Given the description of an element on the screen output the (x, y) to click on. 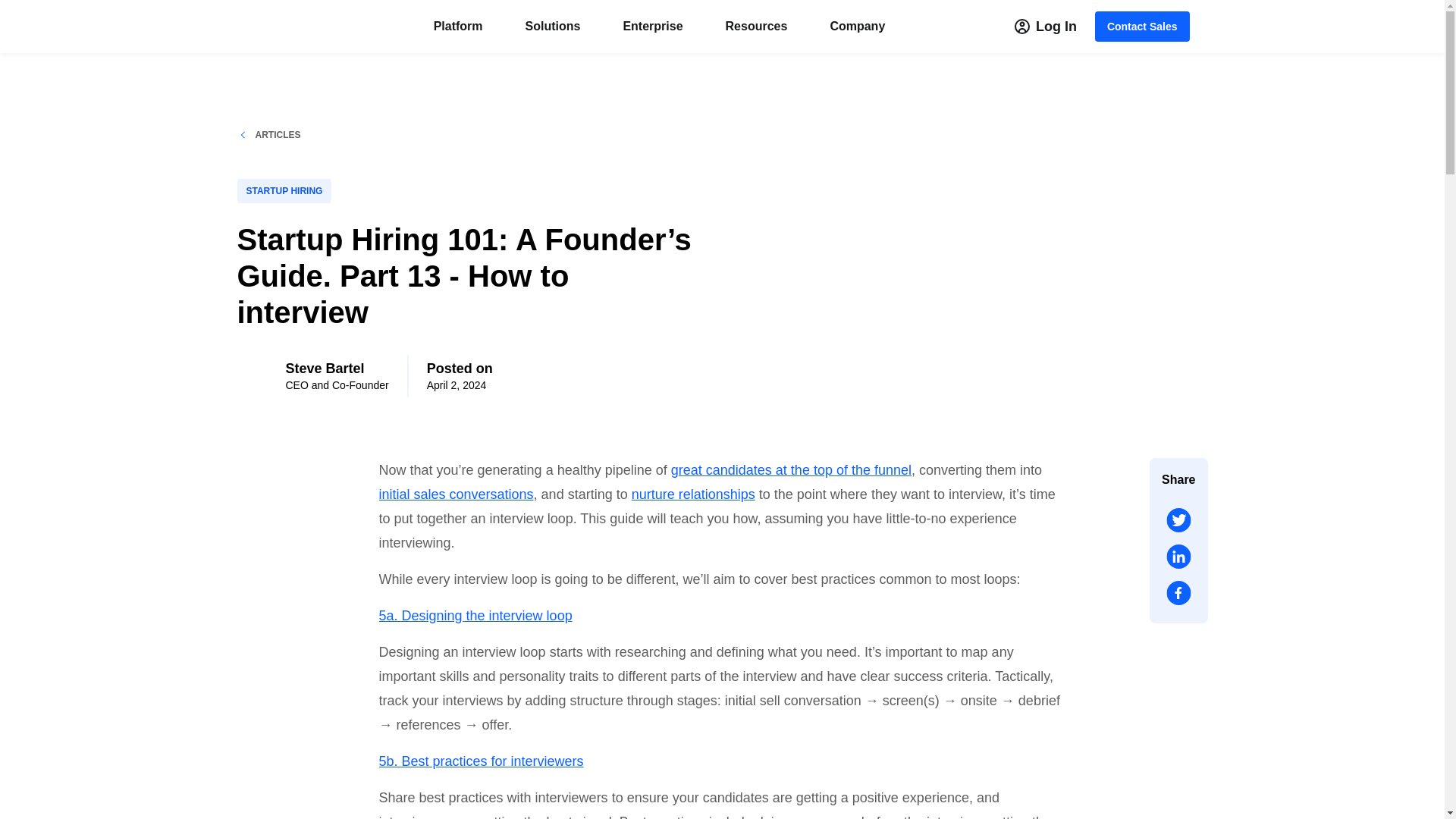
Log In (1045, 26)
Enterprise (652, 25)
Resources (756, 26)
Contact Sales (1141, 26)
Platform (458, 26)
great candidates at the top of the funnel (791, 469)
Company (857, 26)
5b. Best practices for interviewers (480, 761)
ARTICLES (470, 134)
nurture relationships (693, 494)
